Given the description of an element on the screen output the (x, y) to click on. 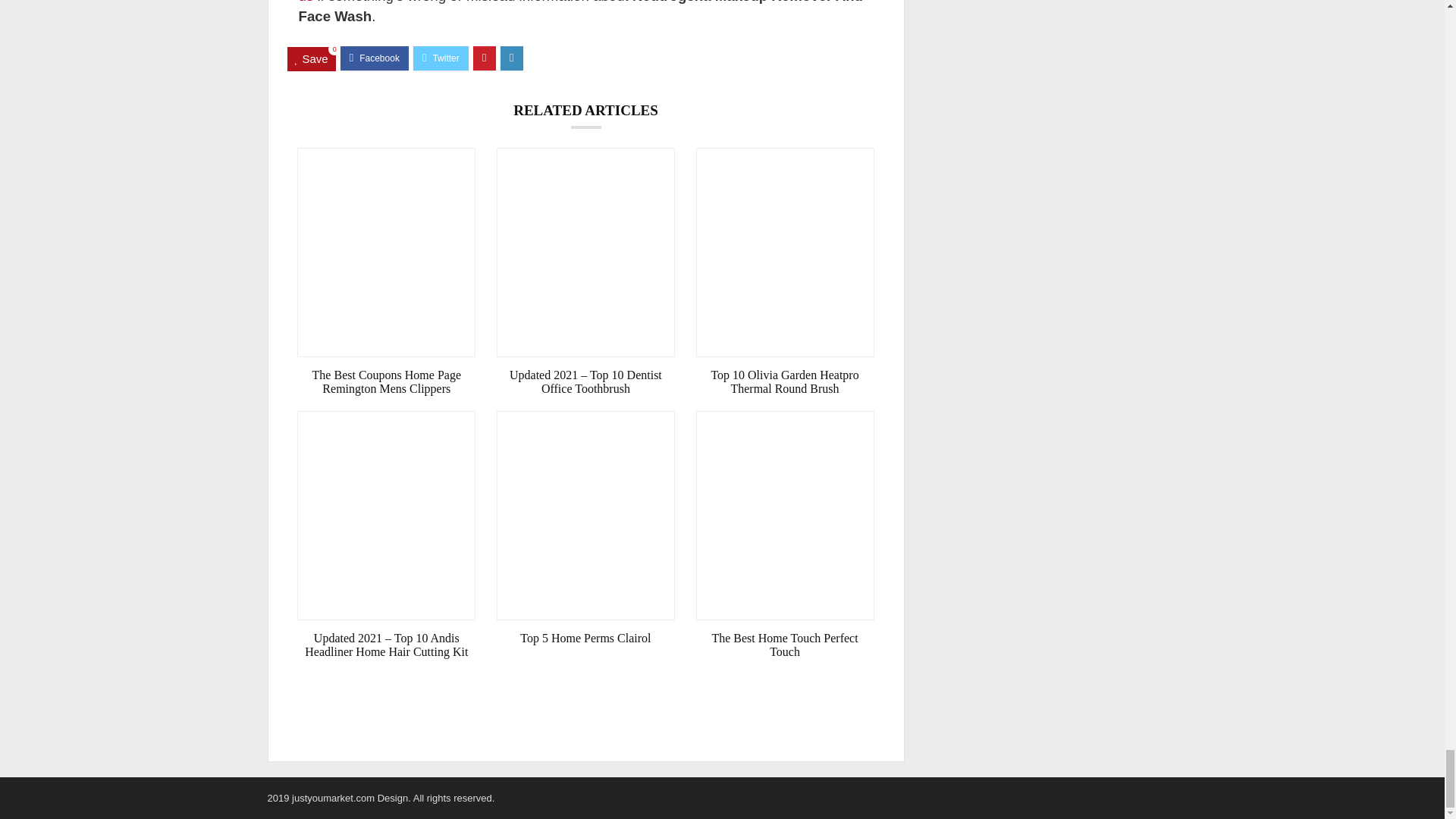
The Best Coupons Home Page Remington Mens Clippers (386, 381)
Top 10 Olivia Garden Heatpro Thermal Round Brush (785, 381)
The Best Home Touch Perfect Touch (785, 645)
Top 5 Home Perms Clairol (585, 638)
